Given the description of an element on the screen output the (x, y) to click on. 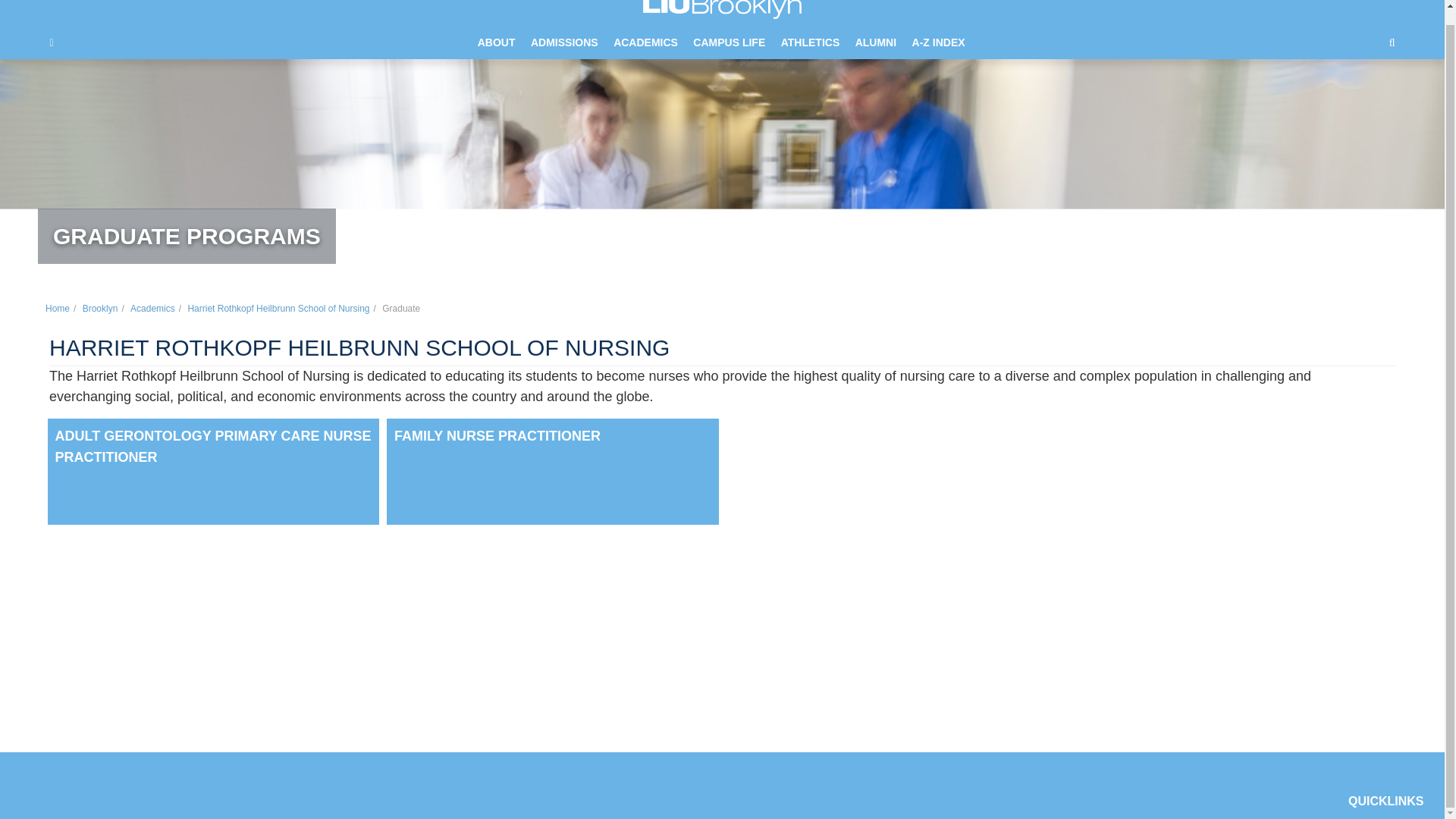
LIU Brooklyn Campus Life (1237, 646)
Academics (152, 308)
CAMPUS LIFE (729, 42)
ABOUT (496, 42)
Harriet Rothkopf Heilbrunn School of Nursing (278, 308)
ACADEMICS (645, 42)
A-Z INDEX (938, 42)
ADMISSIONS (564, 42)
ATHLETICS (809, 42)
contact an admissions counselors (266, 657)
ALUMNI (875, 42)
Brooklyn (99, 308)
Enrollment Services (1225, 687)
Home (57, 308)
Apply Now! (82, 707)
